Given the description of an element on the screen output the (x, y) to click on. 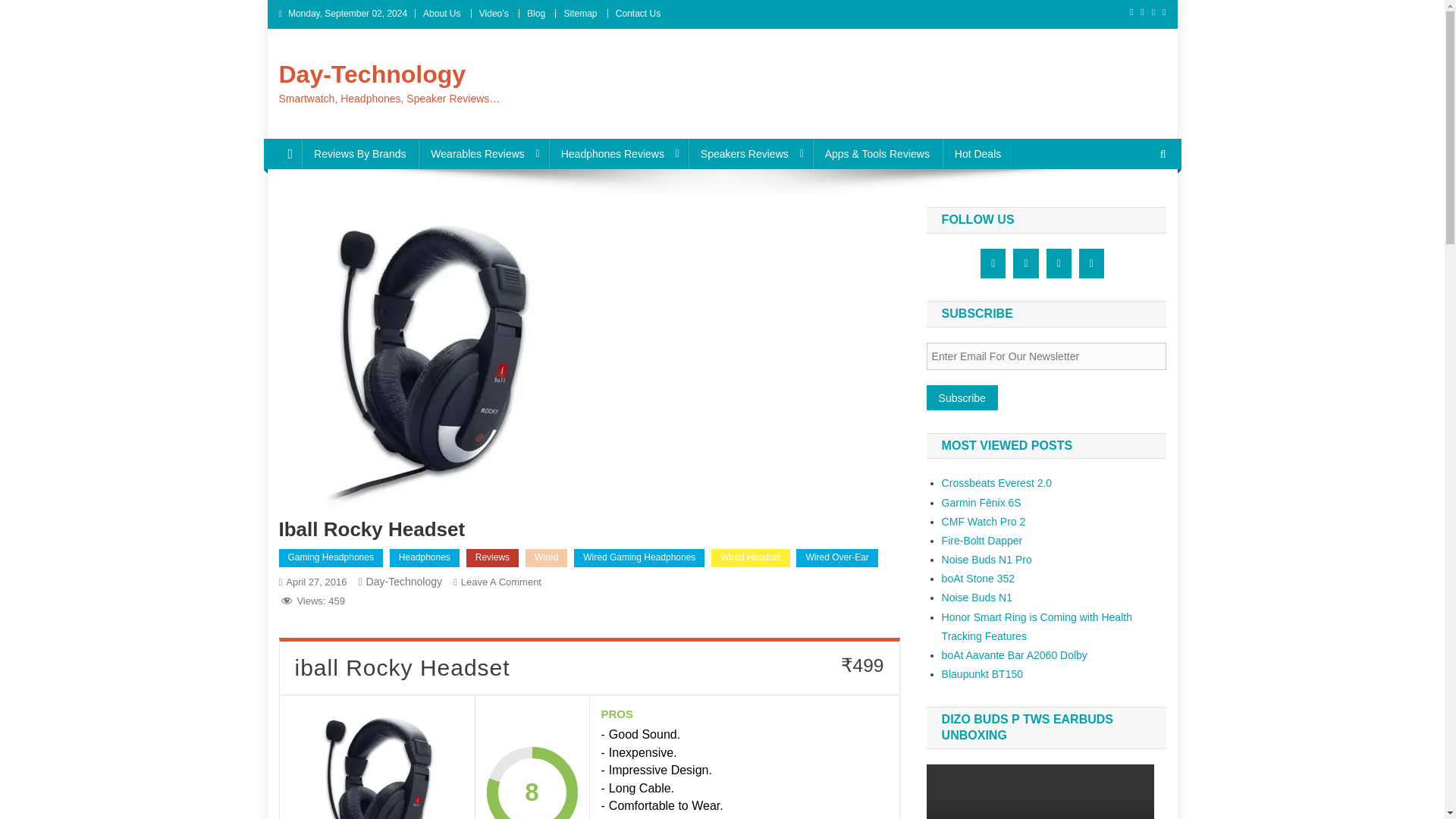
About Us (441, 13)
iball Rocky Headset (377, 762)
Sitemap (579, 13)
Blog (535, 13)
Contact Us (638, 13)
Day-Technology (372, 73)
Wearables Reviews (483, 153)
Subscribe (961, 397)
Reviews By Brands (359, 153)
Speakers Reviews (750, 153)
